Given the description of an element on the screen output the (x, y) to click on. 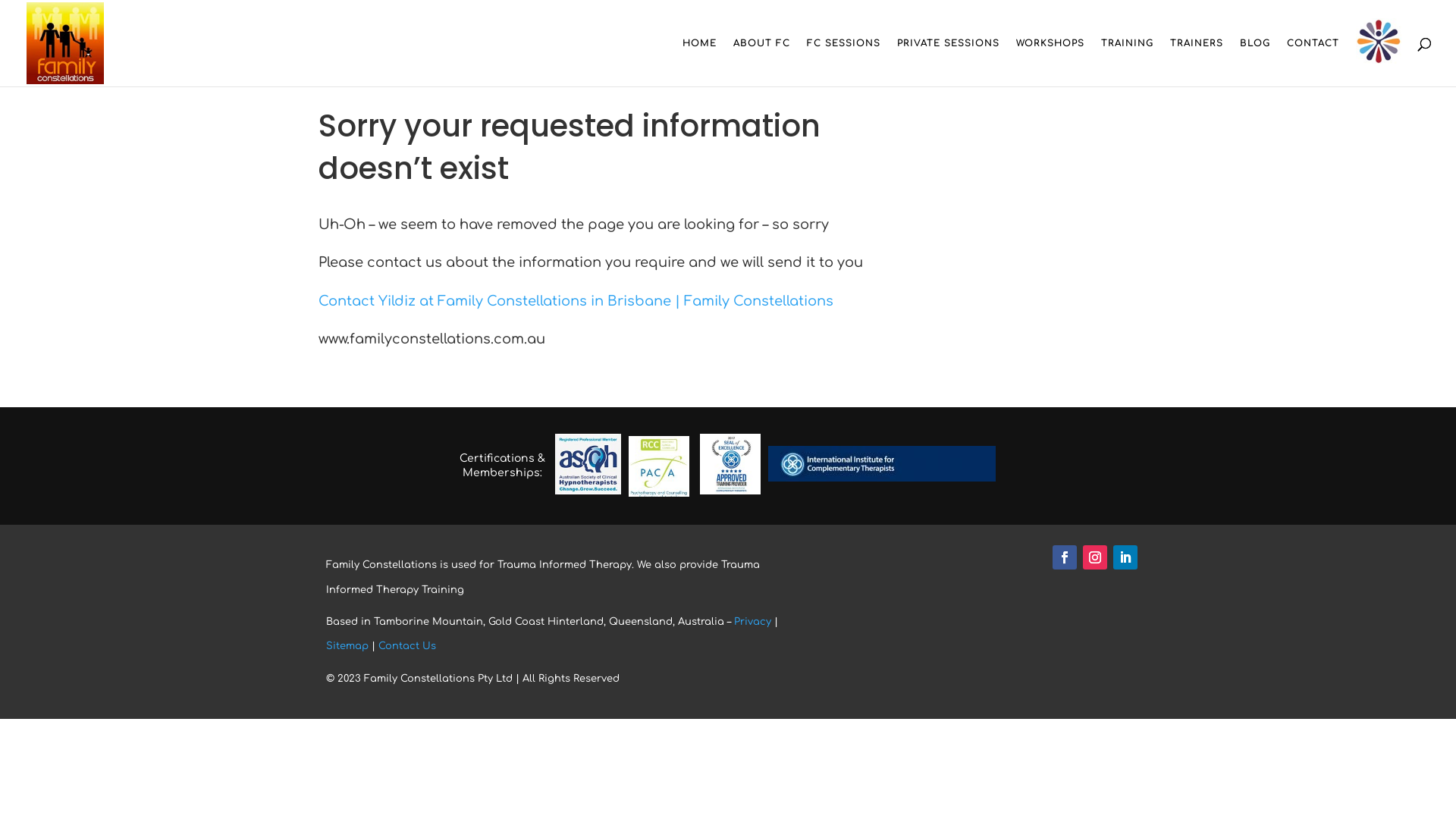
Follow on Instagram Element type: hover (1094, 557)
ABOUT FC Element type: text (761, 61)
BLOG Element type: text (1254, 61)
TRAINING Element type: text (1127, 61)
HOME Element type: text (699, 61)
FC SESSIONS Element type: text (843, 61)
Contact Us Element type: text (407, 645)
RCH Element type: text (1378, 42)
Privacy Element type: text (752, 621)
Follow on Facebook Element type: hover (1064, 557)
CONTACT Element type: text (1312, 61)
PRIVATE SESSIONS Element type: text (948, 61)
Sitemap Element type: text (347, 645)
TRAINERS Element type: text (1196, 61)
WORKSHOPS Element type: text (1050, 61)
Follow on LinkedIn Element type: hover (1125, 557)
